Given the description of an element on the screen output the (x, y) to click on. 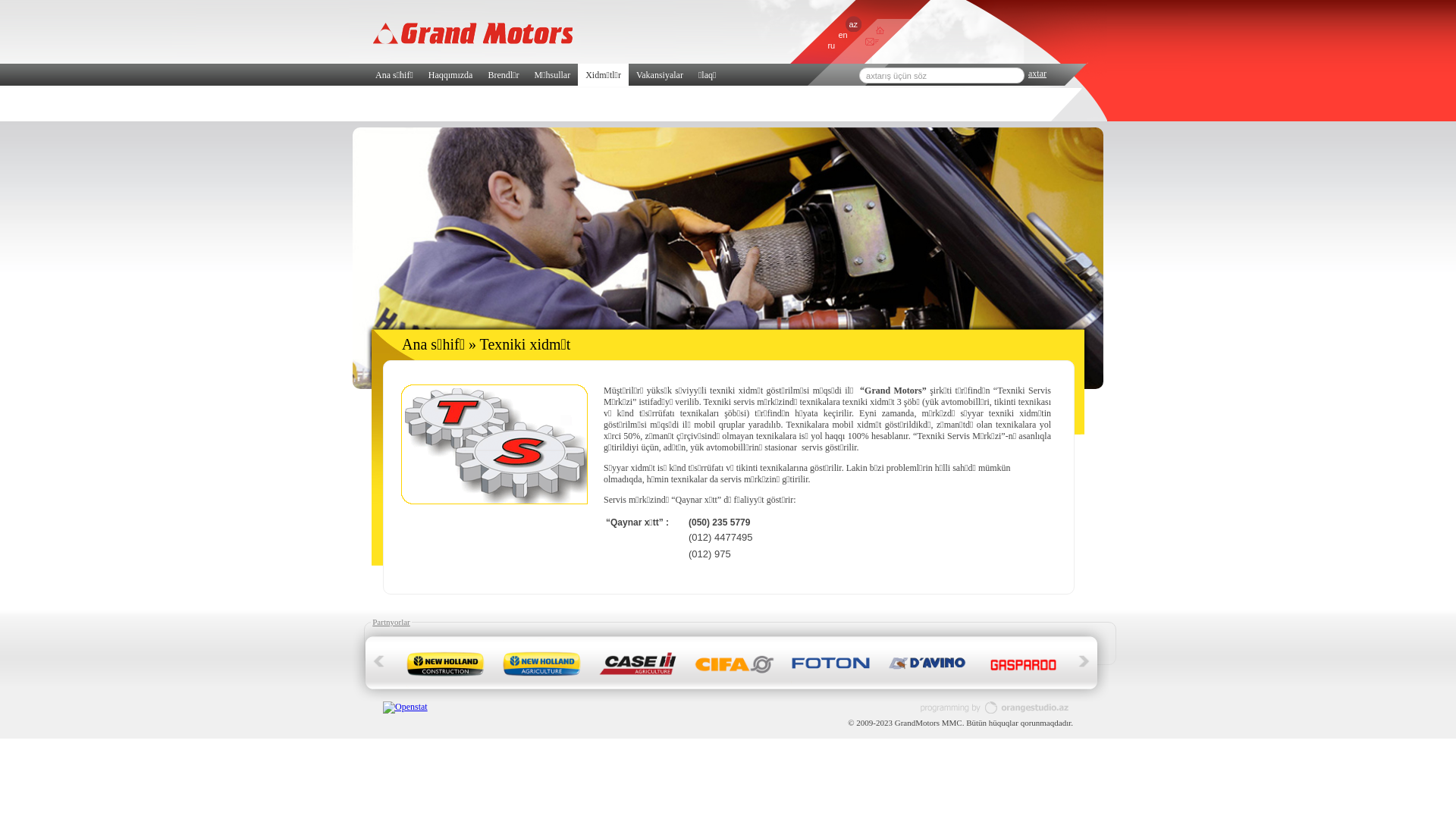
en Element type: text (842, 34)
az Element type: text (853, 23)
ru Element type: text (830, 45)
axtar Element type: text (1037, 73)
Vakansiyalar Element type: text (659, 74)
